Given the description of an element on the screen output the (x, y) to click on. 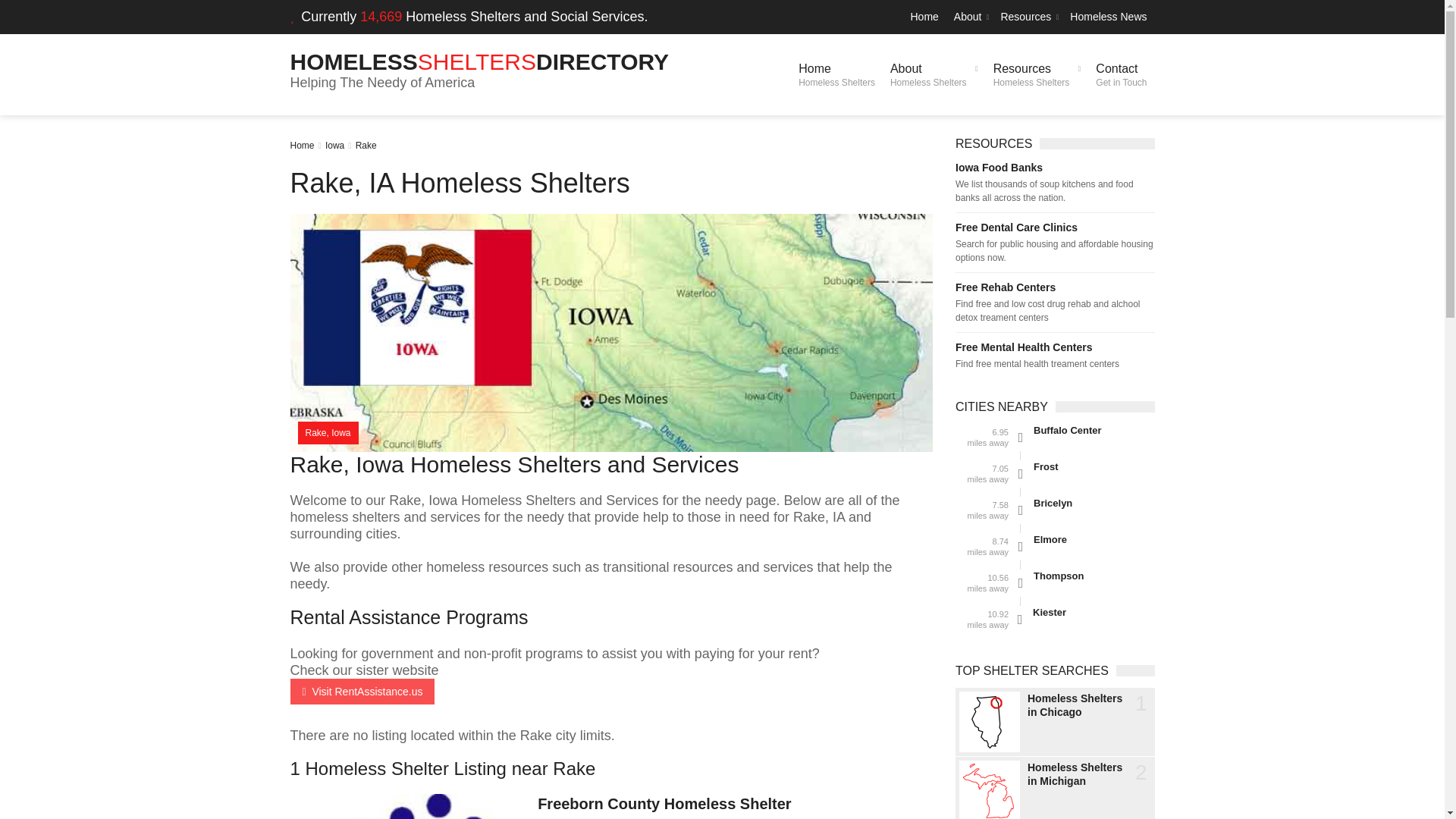
  Visit RentAssistance.us (361, 691)
Home (1037, 74)
Home (923, 17)
Homeless News (301, 145)
Iowa Food Banks (1108, 17)
HOMELESSSHELTERSDIRECTORY (1054, 167)
Rake (478, 61)
Freeborn County Homeless Shelter (366, 145)
Resources (664, 803)
Free Rehab Centers (1027, 17)
Buffalo Center (1120, 74)
Free Mental Health Centers (933, 74)
